Given the description of an element on the screen output the (x, y) to click on. 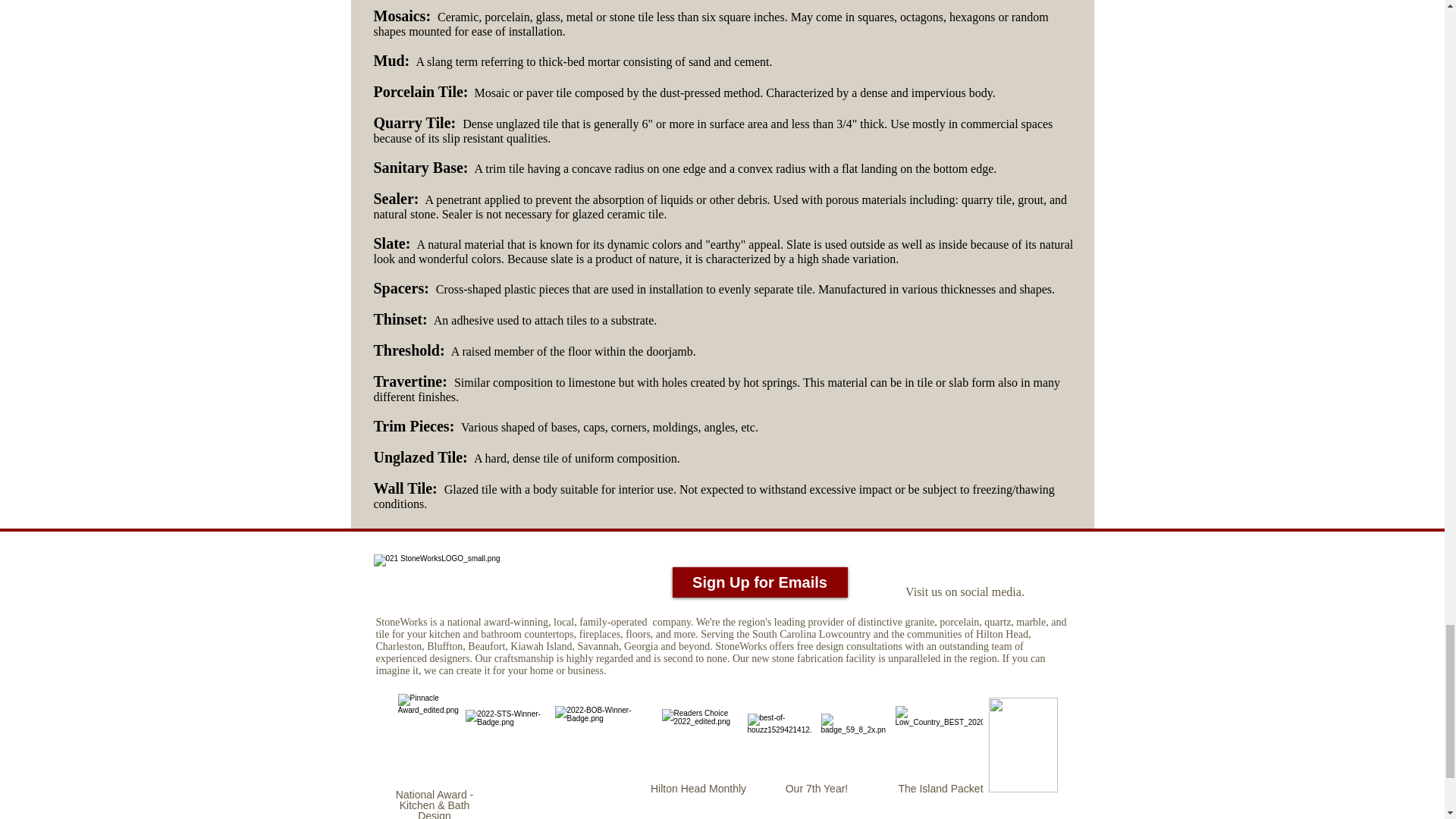
Sign Up for Emails (759, 582)
